Given the description of an element on the screen output the (x, y) to click on. 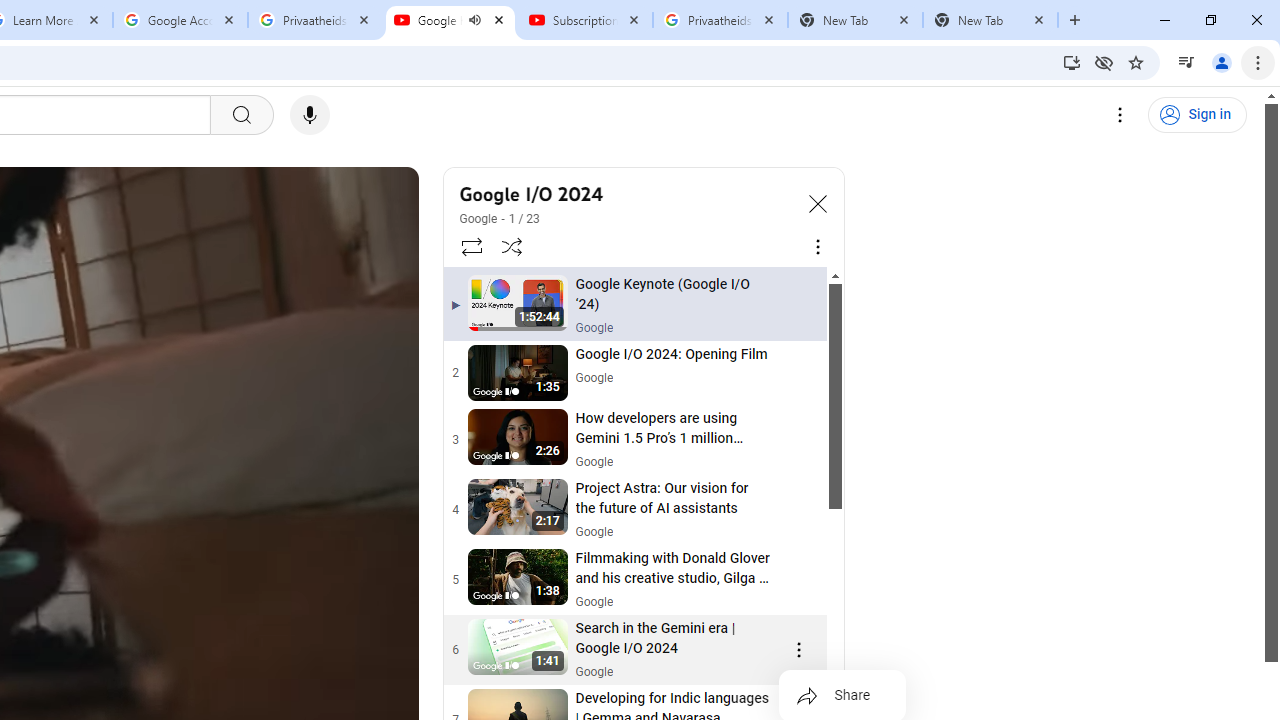
New Tab (990, 20)
Loop playlist (470, 246)
Google I/O 2024 (625, 194)
